Given the description of an element on the screen output the (x, y) to click on. 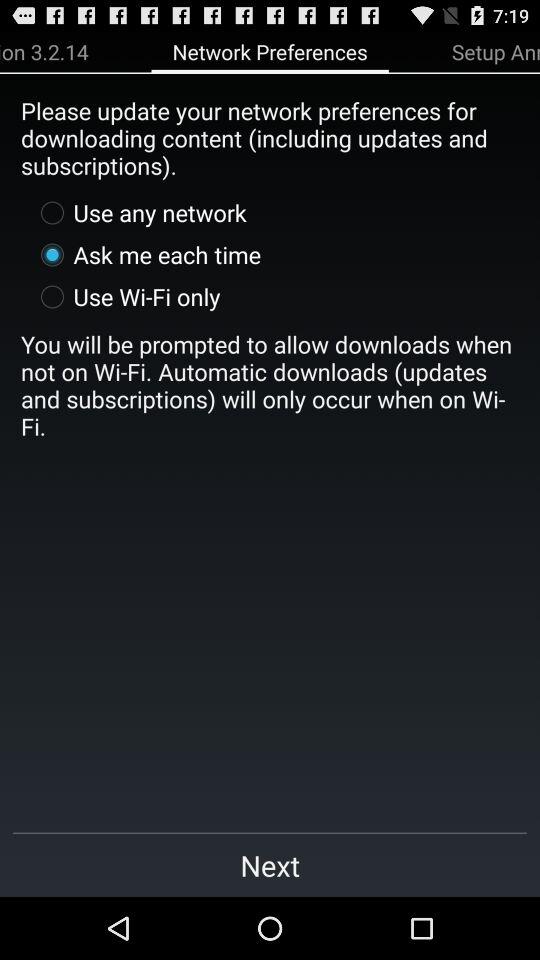
select next (270, 864)
